Given the description of an element on the screen output the (x, y) to click on. 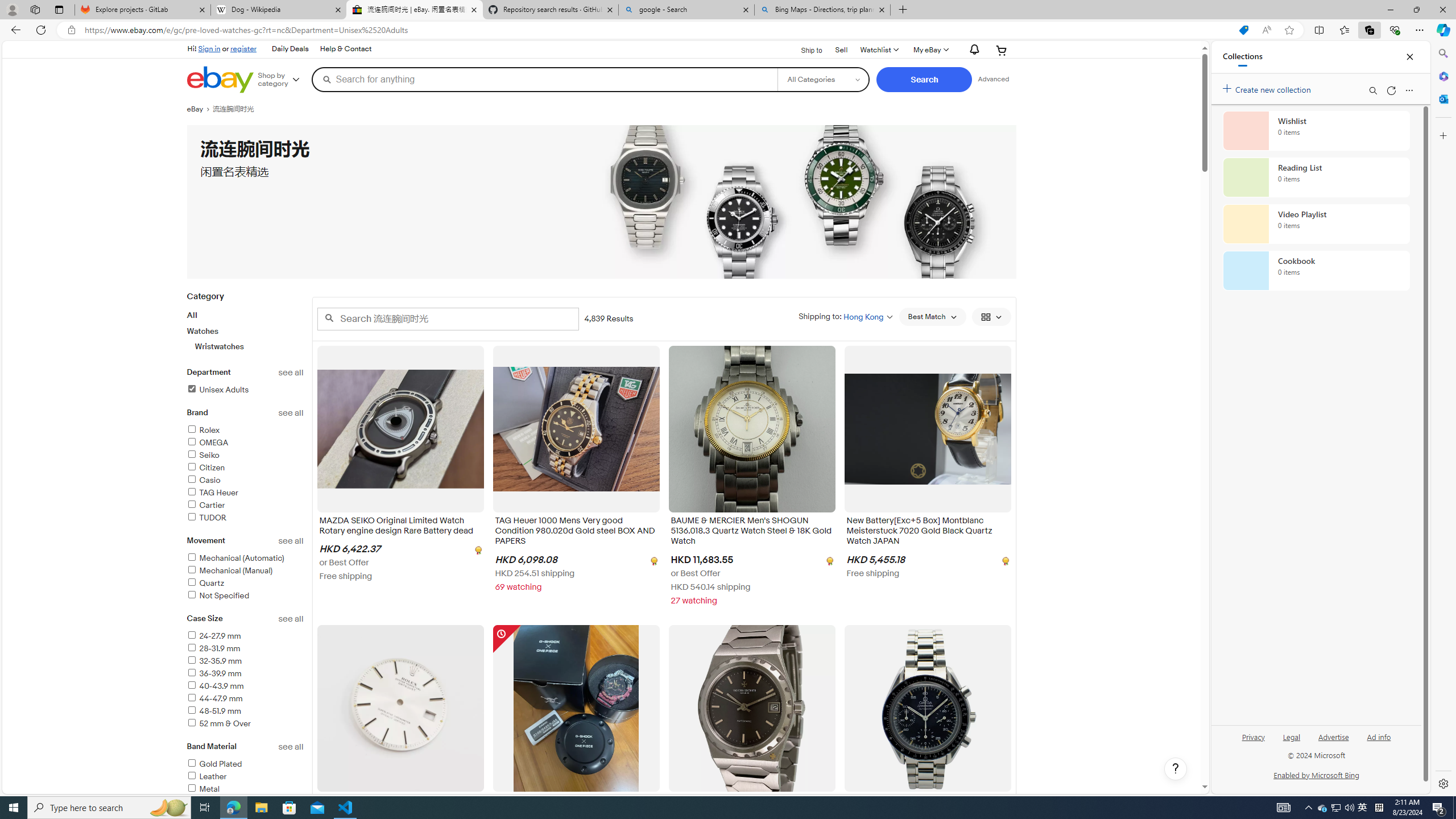
Casio (245, 480)
AllWatchesWristwatches (245, 330)
My eBay (930, 49)
CategoryAllWatchesWristwatches (245, 327)
Ship to (804, 49)
Metal (202, 788)
Rolex (202, 429)
AutomationID: gh-eb-Alerts (972, 49)
Citizen (245, 467)
This site has coupons! Shopping in Microsoft Edge, 20 (1243, 29)
Cartier (205, 505)
